Given the description of an element on the screen output the (x, y) to click on. 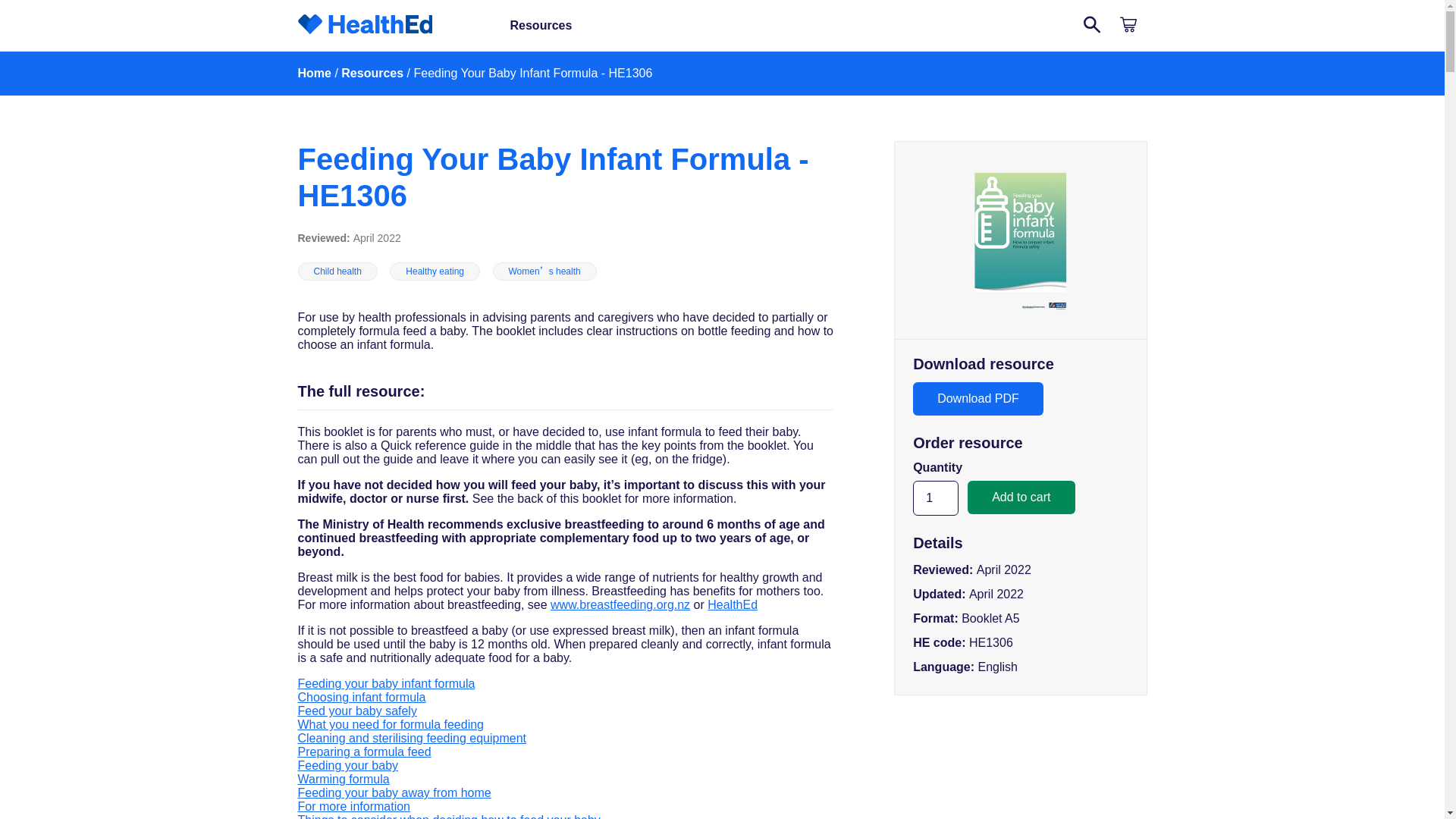
Feeding your baby infant formula (385, 683)
www.breastfeeding.org.nz (620, 604)
Download PDF (977, 398)
Resources (540, 25)
Submit (1092, 25)
Resources (371, 72)
Feed your baby safely (356, 710)
Choosing infant formula (361, 697)
What you need for formula feeding (390, 724)
Preparing a formula feed (363, 751)
Feeding your baby (347, 765)
Cleaning and sterilising feeding equipment (411, 738)
Add to cart (1021, 497)
Warming formula (342, 779)
HealthEd (732, 604)
